Given the description of an element on the screen output the (x, y) to click on. 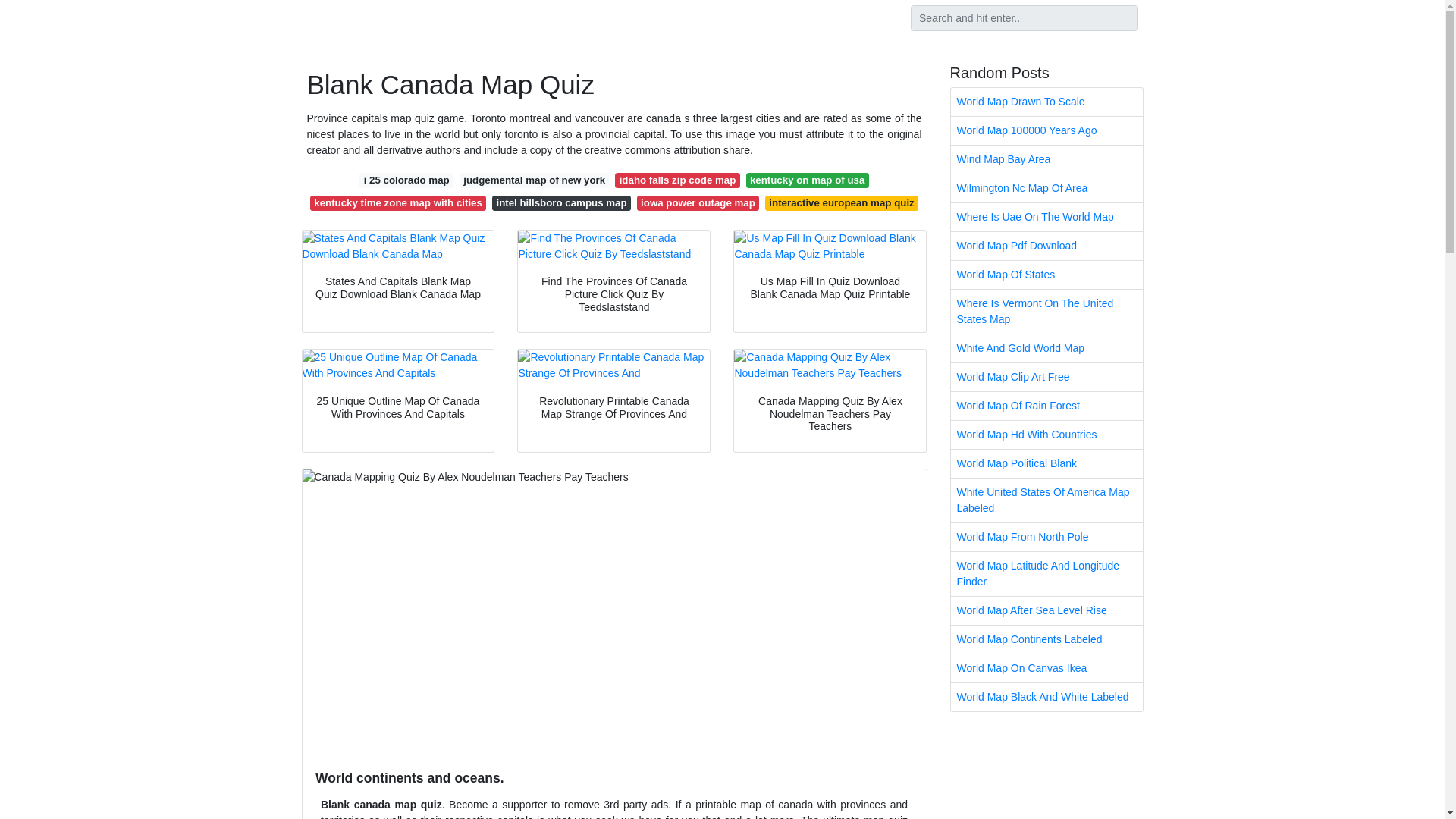
idaho falls zip code map (676, 180)
Wilmington Nc Map Of Area (1046, 188)
i 25 colorado map (405, 180)
Wind Map Bay Area (1046, 159)
kentucky on map of usa (807, 180)
Where Is Uae On The World Map (1046, 216)
World Map Drawn To Scale (1046, 101)
iowa power outage map (697, 202)
interactive european map quiz (841, 202)
judgemental map of new york (535, 180)
kentucky time zone map with cities (398, 202)
Where Is Vermont On The United States Map (1046, 311)
White And Gold World Map (1046, 348)
World Map Of States (1046, 275)
World Map Pdf Download (1046, 245)
